Given the description of an element on the screen output the (x, y) to click on. 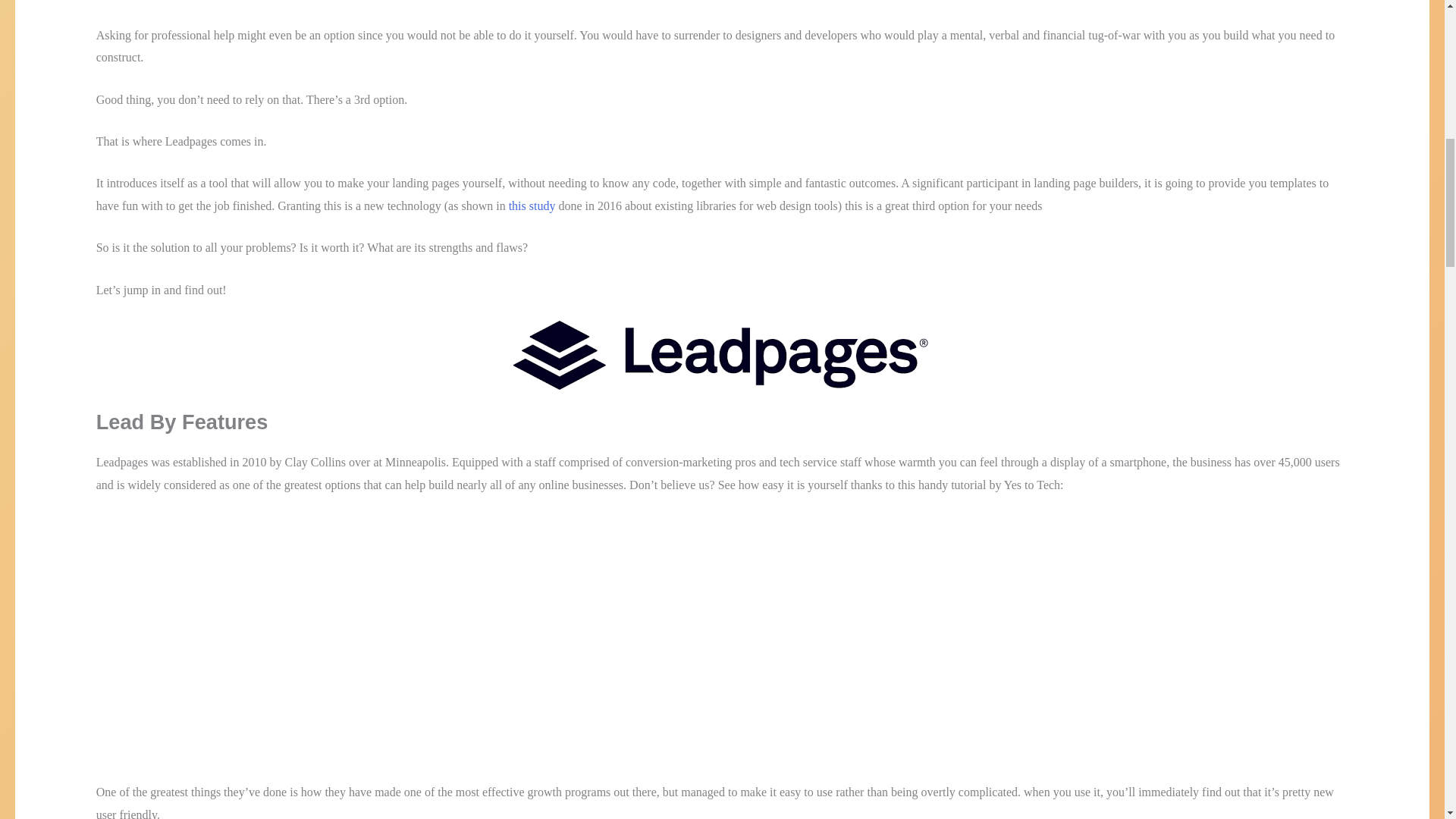
this study (532, 205)
